Given the description of an element on the screen output the (x, y) to click on. 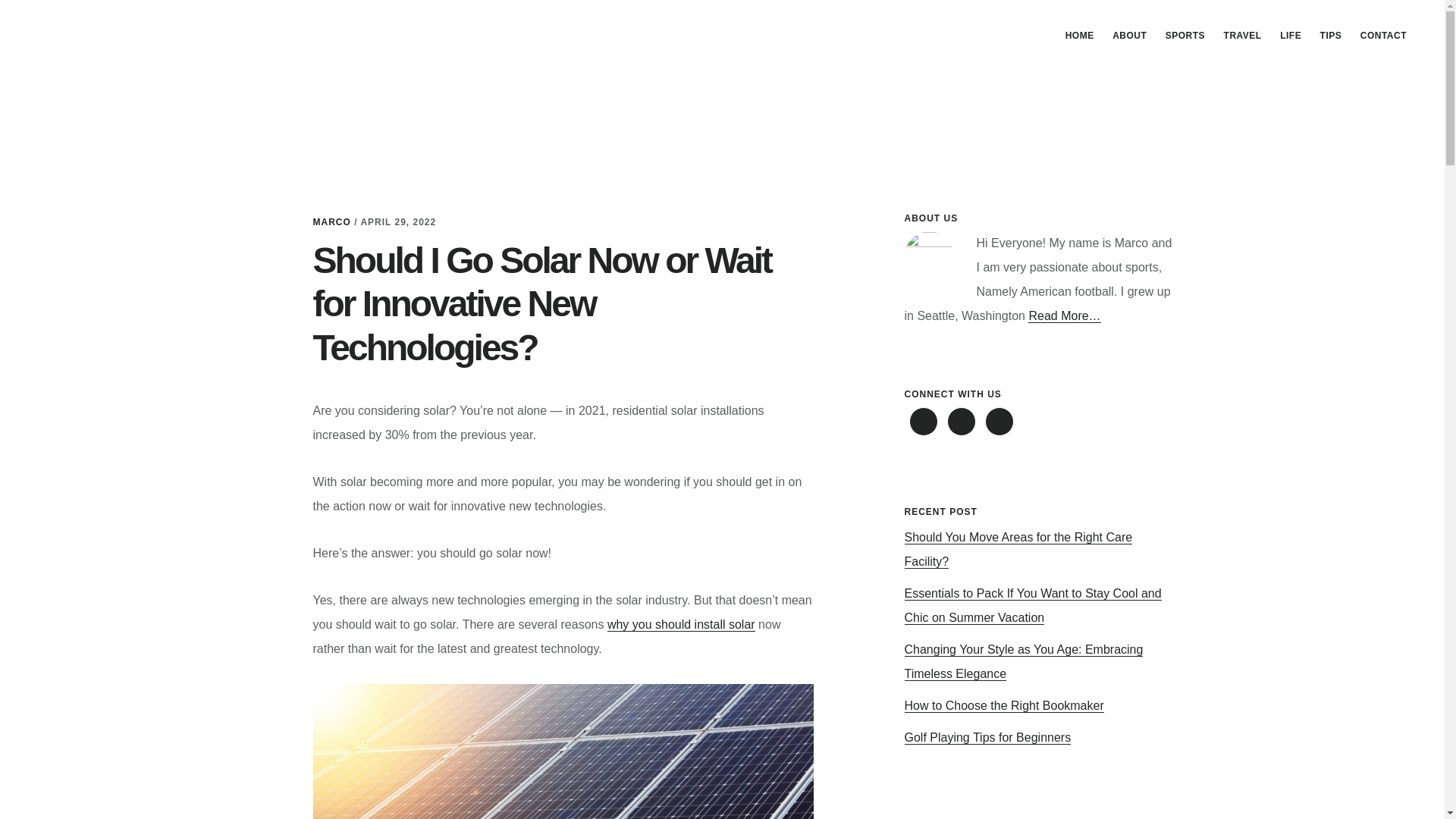
Changing Your Style as You Age: Embracing Timeless Elegance (1023, 661)
MARCO (331, 222)
CONTACT (1382, 35)
How to Choose the Right Bookmaker (1003, 705)
HOME (1080, 35)
TRAVEL (1242, 35)
BERGA MOSERA BLOG (143, 32)
TIPS (1331, 35)
why you should install solar (681, 624)
Should You Move Areas for the Right Care Facility? (1018, 549)
